Given the description of an element on the screen output the (x, y) to click on. 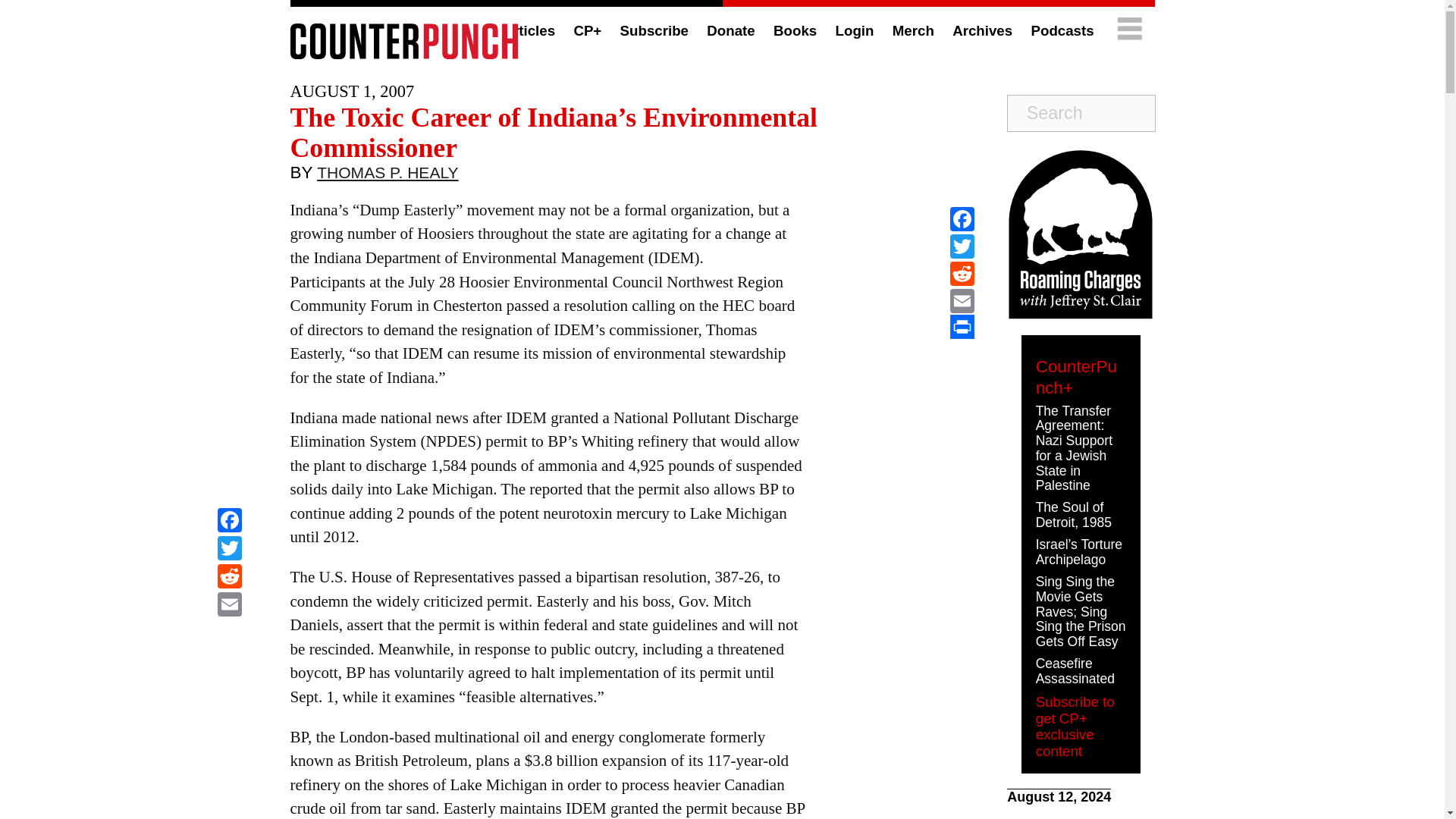
Twitter (229, 550)
Podcasts (1061, 30)
Facebook (962, 218)
Email (229, 605)
Reddit (229, 578)
Reddit (962, 273)
Subscribe (654, 30)
Reddit (229, 578)
Articles (528, 30)
Facebook (229, 521)
